Given the description of an element on the screen output the (x, y) to click on. 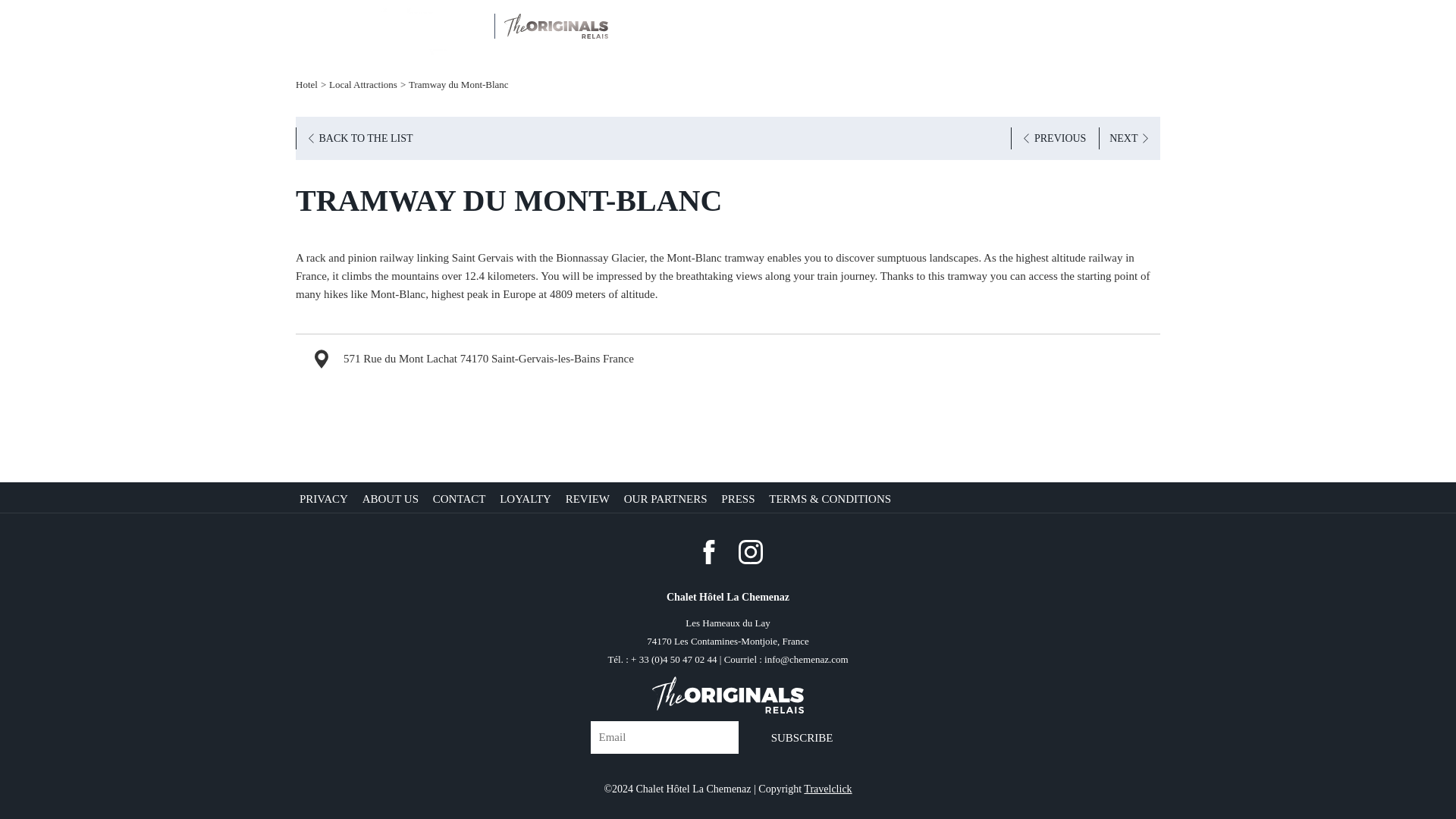
BACK TO THE LIST (359, 138)
REVIEW (589, 499)
PRIVACY (325, 499)
NEXT (1129, 138)
PREVIOUS (1053, 138)
CONTACT (460, 499)
ABOUT US (392, 499)
Tramway du Mont-Blanc (458, 84)
Local Attractions (363, 84)
Hotel (306, 84)
